Given the description of an element on the screen output the (x, y) to click on. 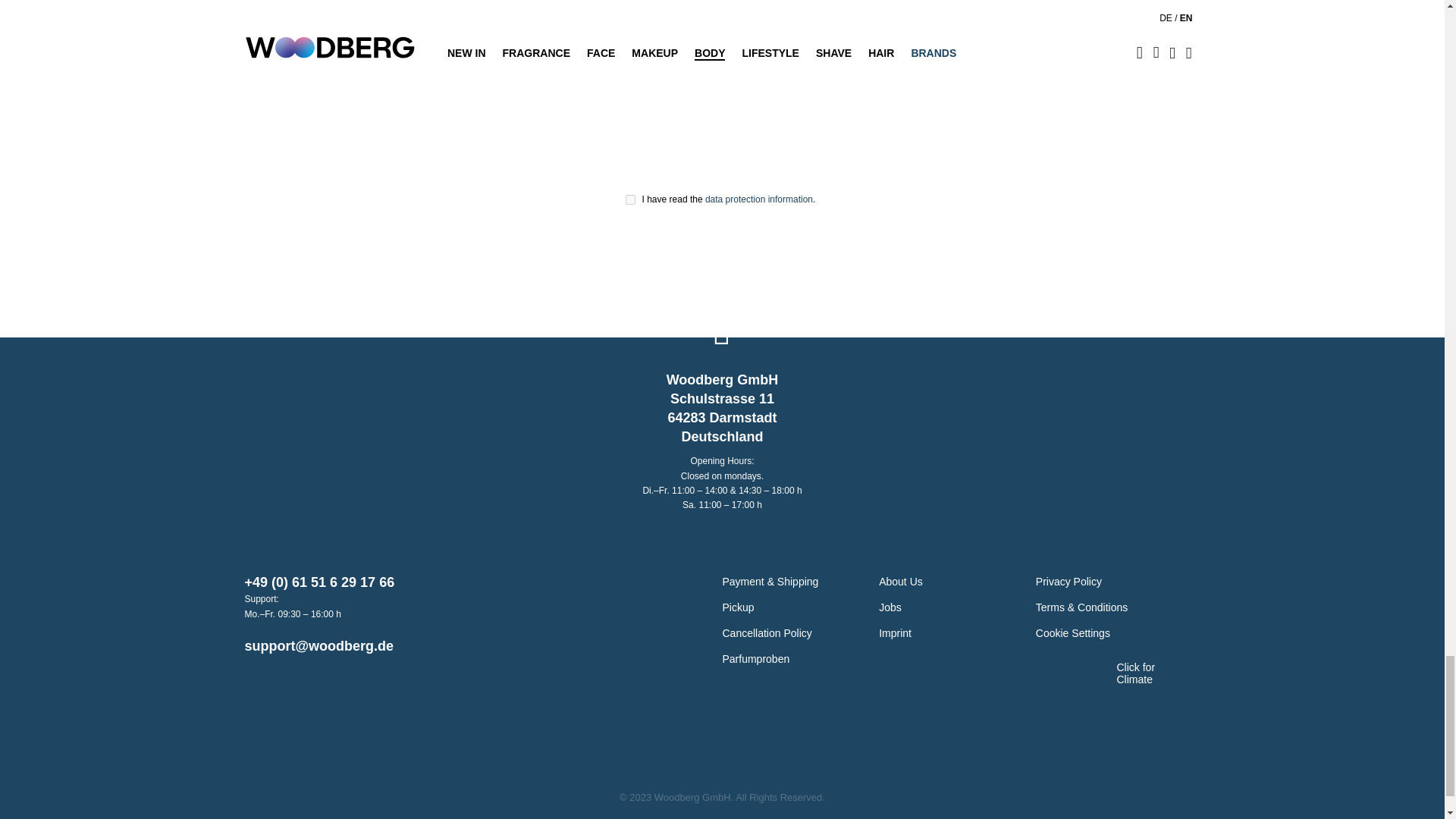
1 (630, 199)
